Given the description of an element on the screen output the (x, y) to click on. 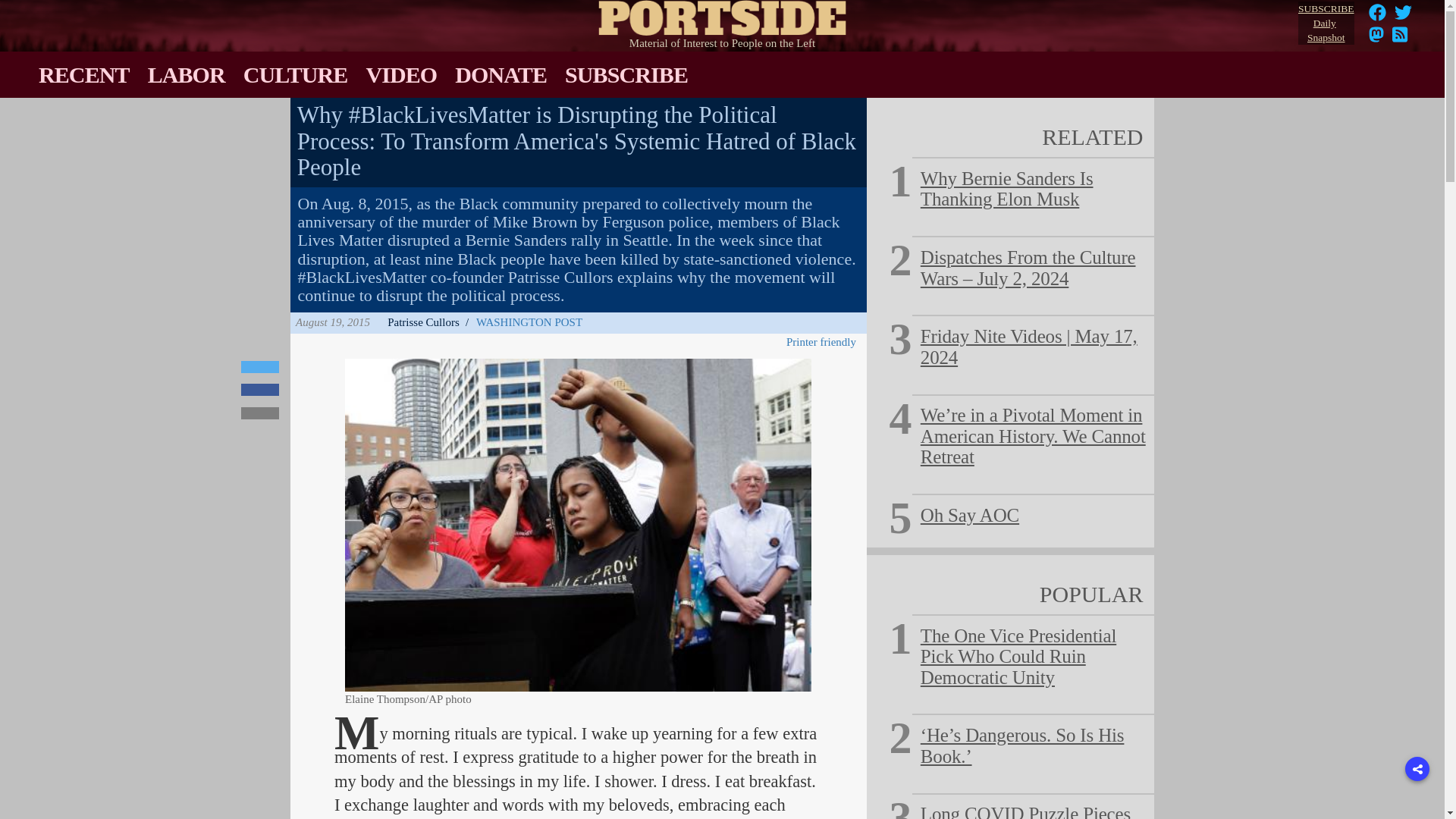
Twitter (1403, 11)
SUBSCRIBE (626, 74)
Facebook (260, 389)
RECENT (83, 74)
Twitter (260, 367)
WASHINGTON POST (529, 322)
Home (722, 14)
RSS (1399, 39)
Mail (260, 413)
Mail (260, 413)
Facebook (1377, 11)
Twitter (1403, 16)
VIDEO (400, 74)
The most recent news articles (83, 74)
Portside Labor articles (186, 74)
